Given the description of an element on the screen output the (x, y) to click on. 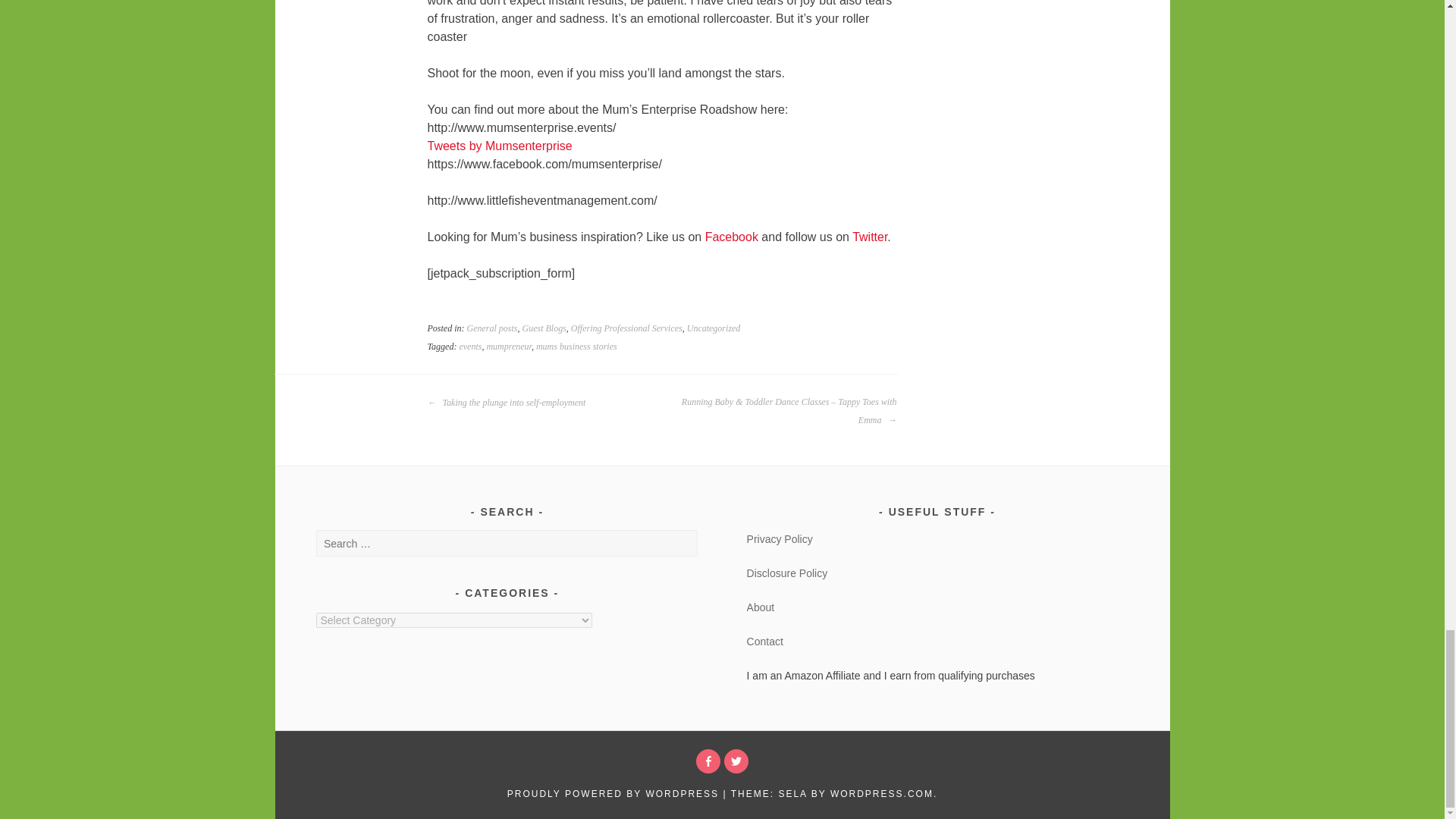
WORDPRESS.COM (881, 793)
About (760, 607)
Twitter account (735, 761)
A Semantic Personal Publishing Platform (612, 793)
 Taking the plunge into self-employment (507, 402)
mumpreneur (508, 346)
events (469, 346)
PROUDLY POWERED BY WORDPRESS (612, 793)
General posts (492, 327)
Tweets by Mumsenterprise (500, 145)
